Given the description of an element on the screen output the (x, y) to click on. 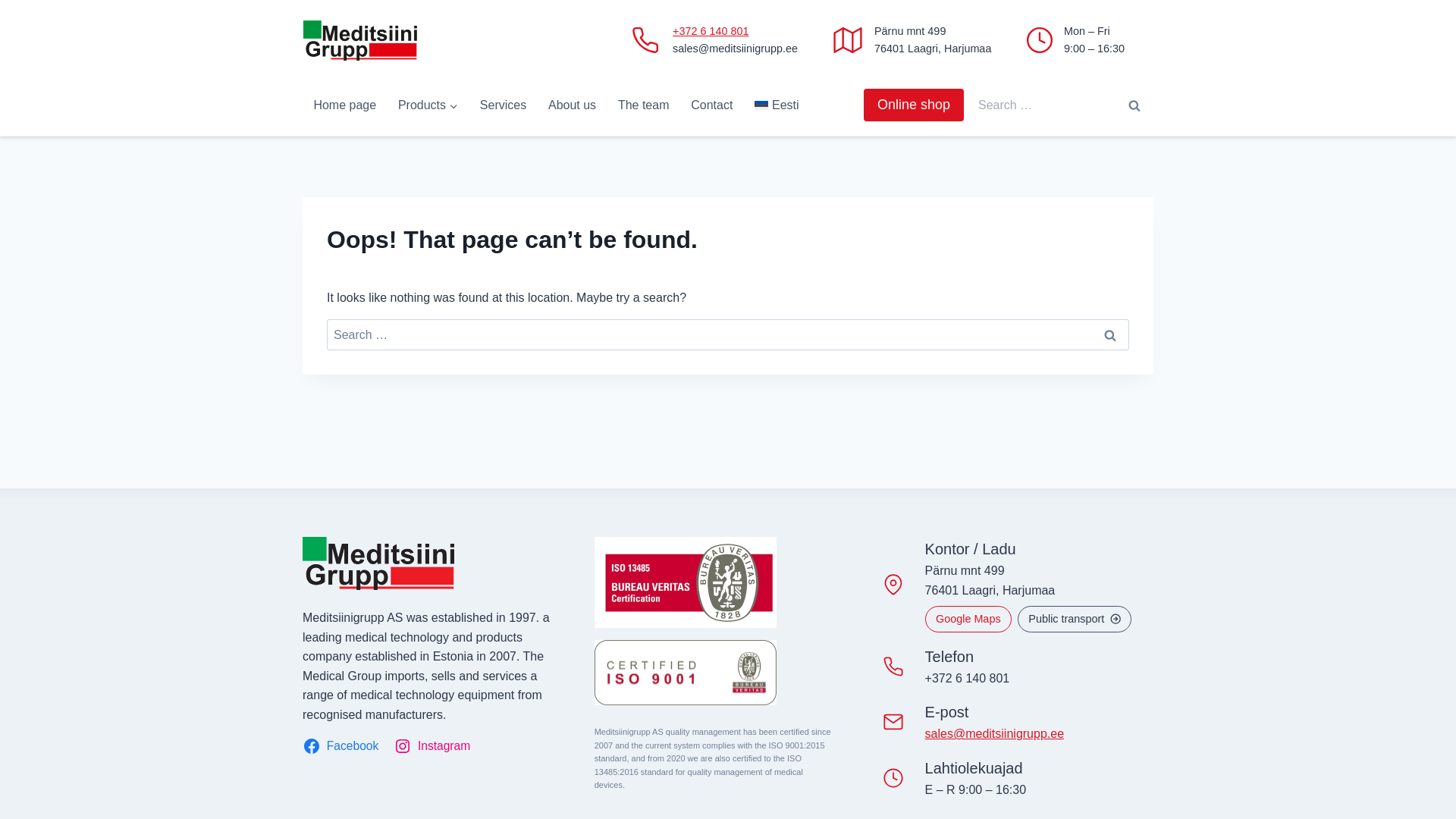
Home page (344, 105)
Services (502, 105)
Search (1109, 334)
Facebook (343, 746)
Google Maps (967, 619)
Eesti (776, 105)
Search (1134, 105)
Search (1134, 105)
Contact (711, 105)
Online shop (913, 104)
